Given the description of an element on the screen output the (x, y) to click on. 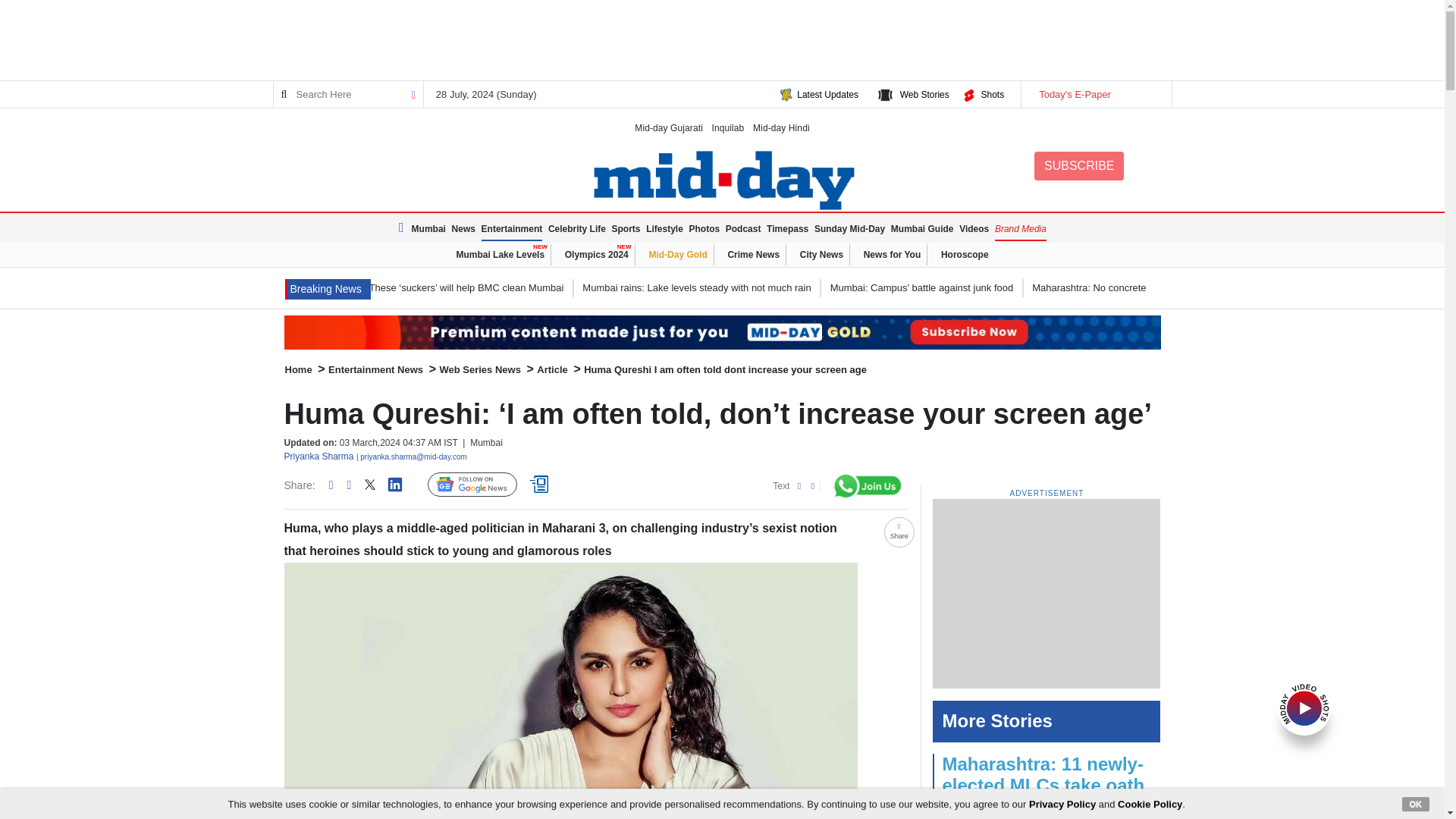
Latest Updates (827, 94)
Shots (991, 94)
Latest News (403, 227)
Latest News (328, 289)
Inquilab (728, 127)
Mid-day Gujarati (668, 127)
Midday Shot Videos (1304, 706)
Web Stories (924, 94)
Subscription (721, 332)
Mid-day Hindi (780, 127)
Today's E-Paper (1095, 94)
SUBSCRIBE (1078, 165)
Quick Reads (541, 485)
